Given the description of an element on the screen output the (x, y) to click on. 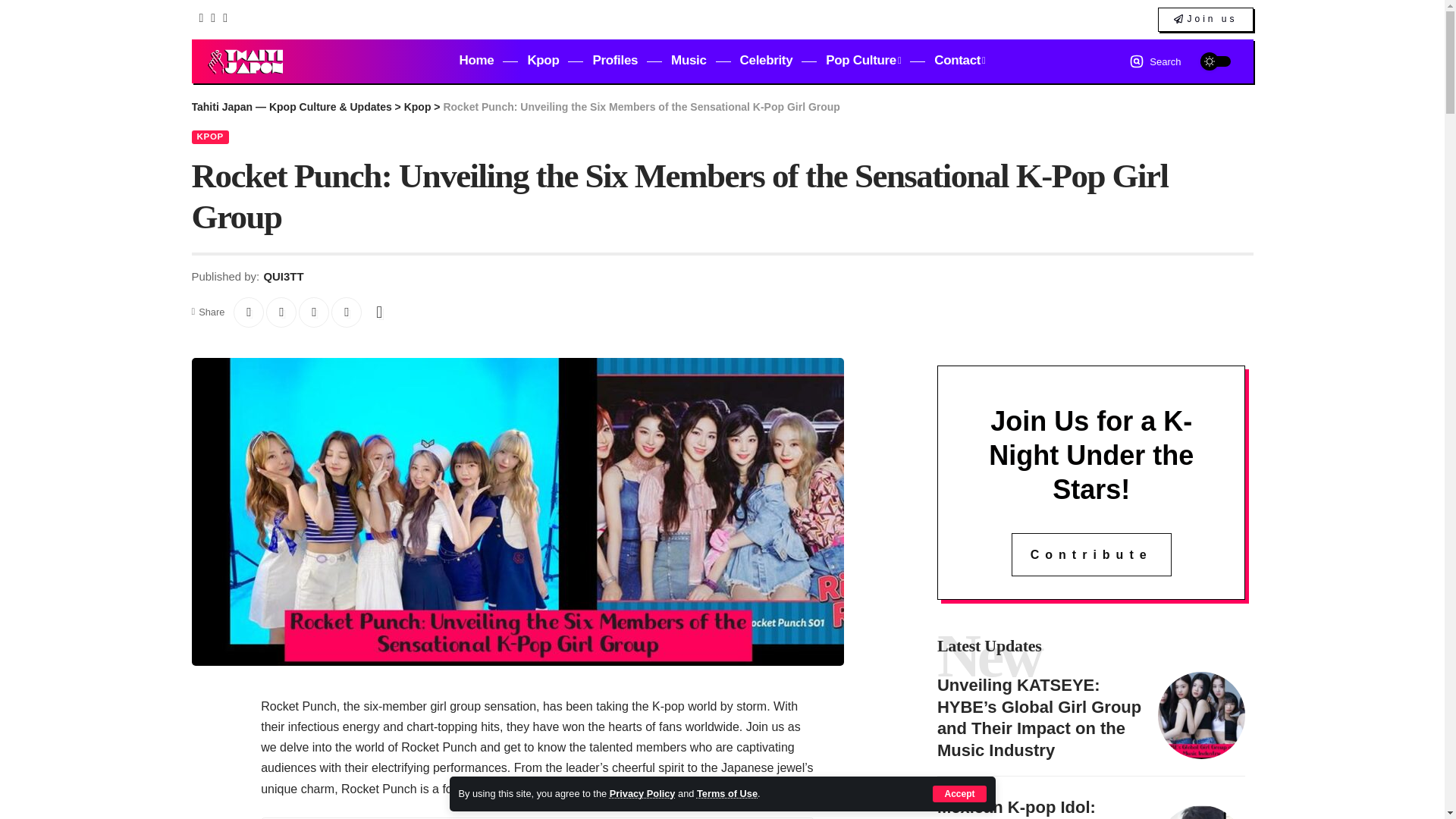
Music (688, 61)
Go to the Kpop Category archives. (417, 106)
Pop Culture (863, 61)
Terms of Use (727, 793)
Join us (1204, 19)
Search (1154, 61)
Contact (959, 61)
Profiles (614, 61)
Celebrity (766, 61)
Privacy Policy (642, 793)
